Given the description of an element on the screen output the (x, y) to click on. 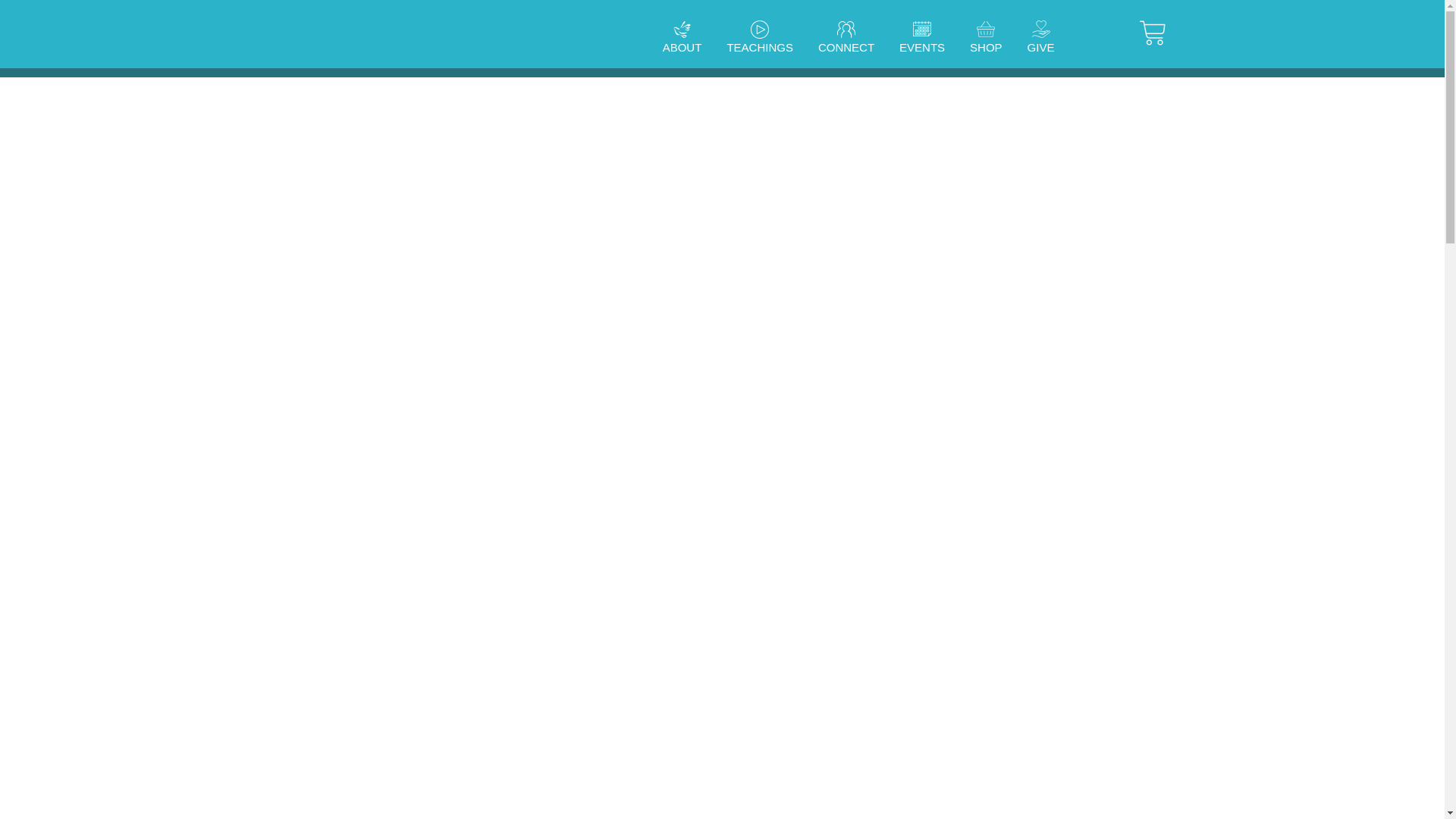
ABOUT (682, 47)
SHOP (986, 47)
TEACHINGS (759, 47)
GIVE (1040, 47)
CONNECT (846, 47)
EVENTS (921, 47)
